Given the description of an element on the screen output the (x, y) to click on. 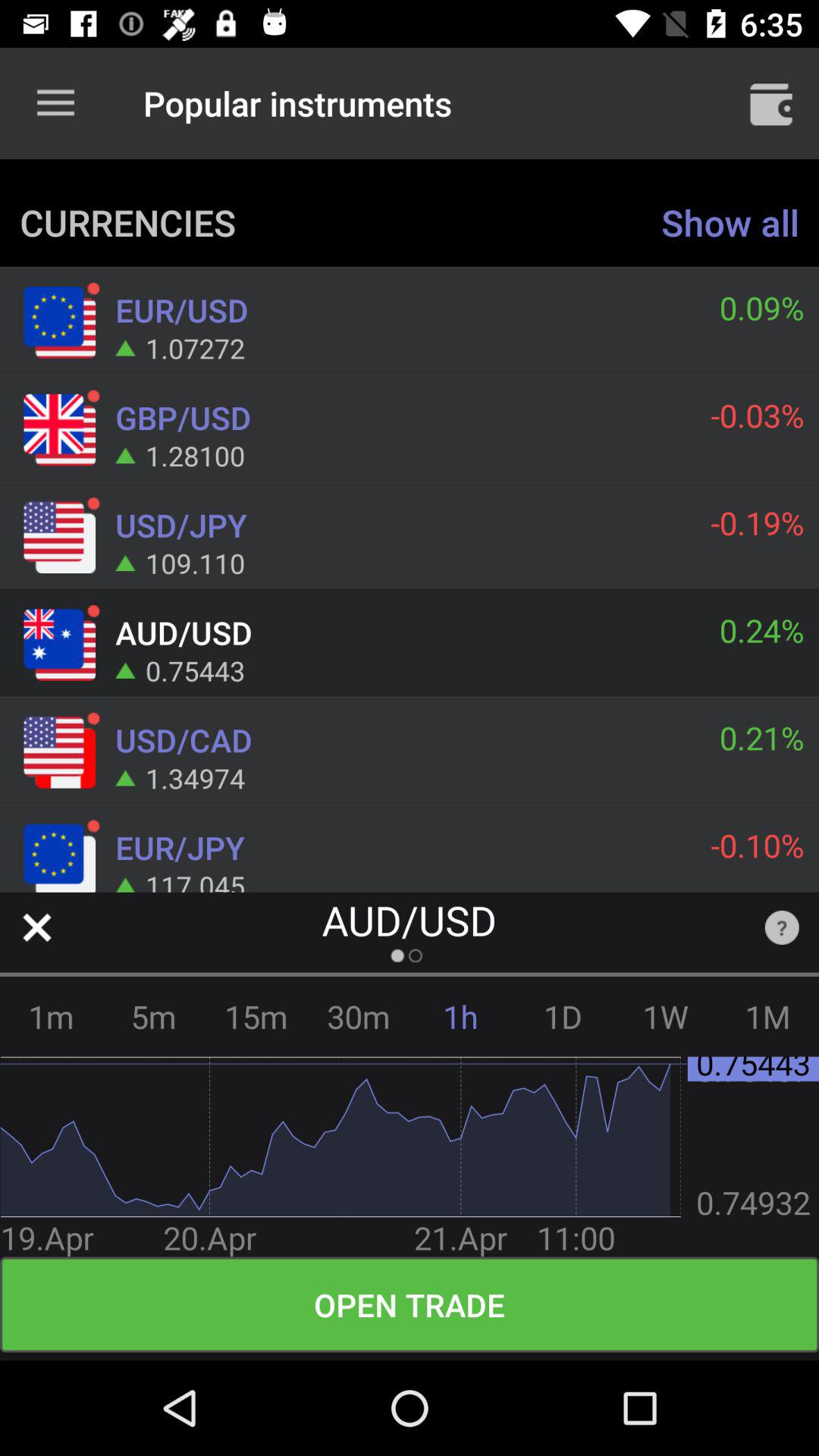
print (771, 103)
